Given the description of an element on the screen output the (x, y) to click on. 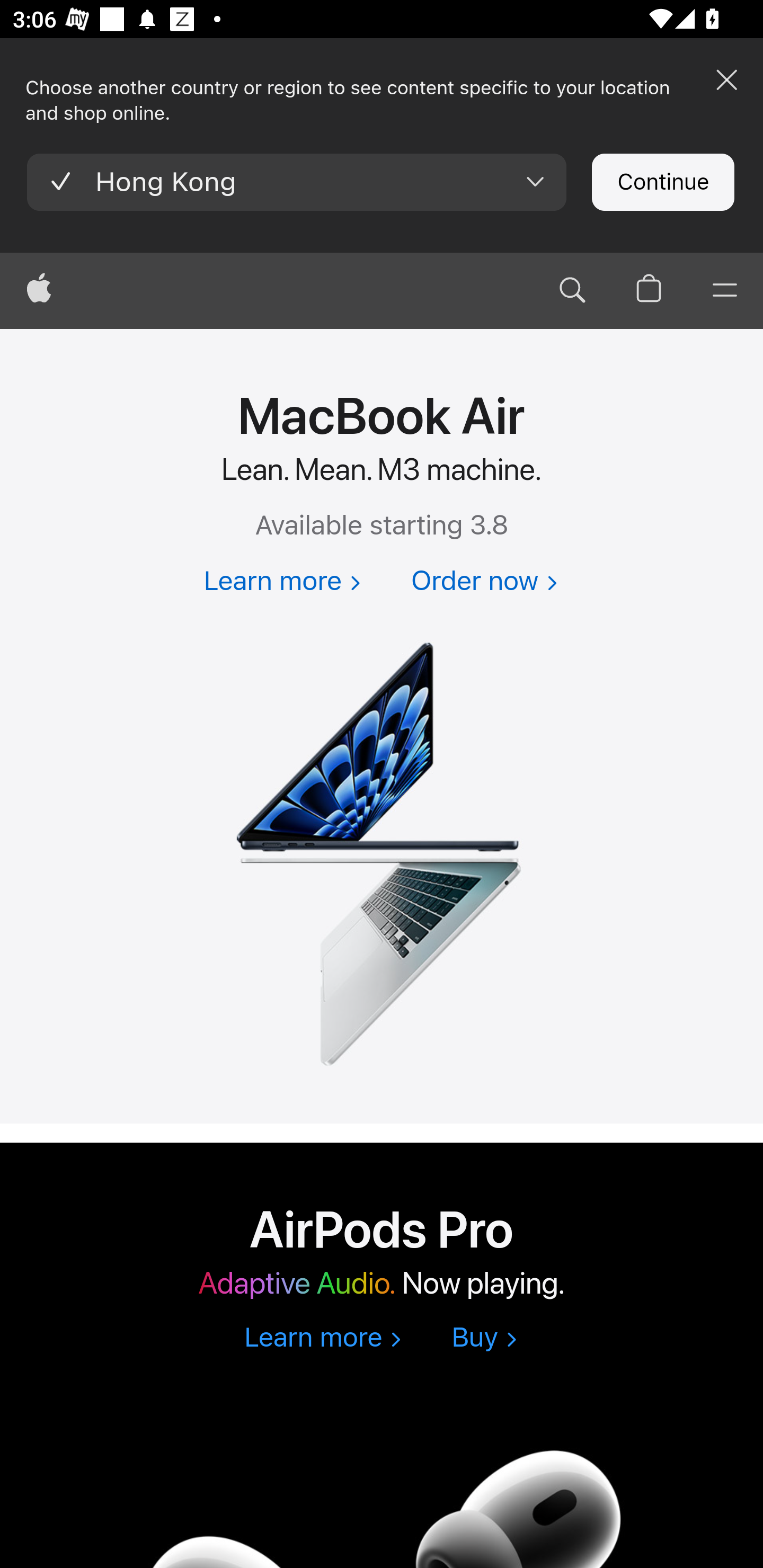
Close country or region selector (725, 79)
 Hong Kong  (297, 181)
Continue (662, 181)
Apple (38, 290)
Search apple.com (572, 290)
Shopping Bag (648, 290)
Menu (724, 290)
Order now, Macbook Air with M3 chip Order now  (483, 582)
Learn more about AirPods Pro Learn more  (322, 1338)
Buy AirPods Pro Buy  (484, 1338)
